Given the description of an element on the screen output the (x, y) to click on. 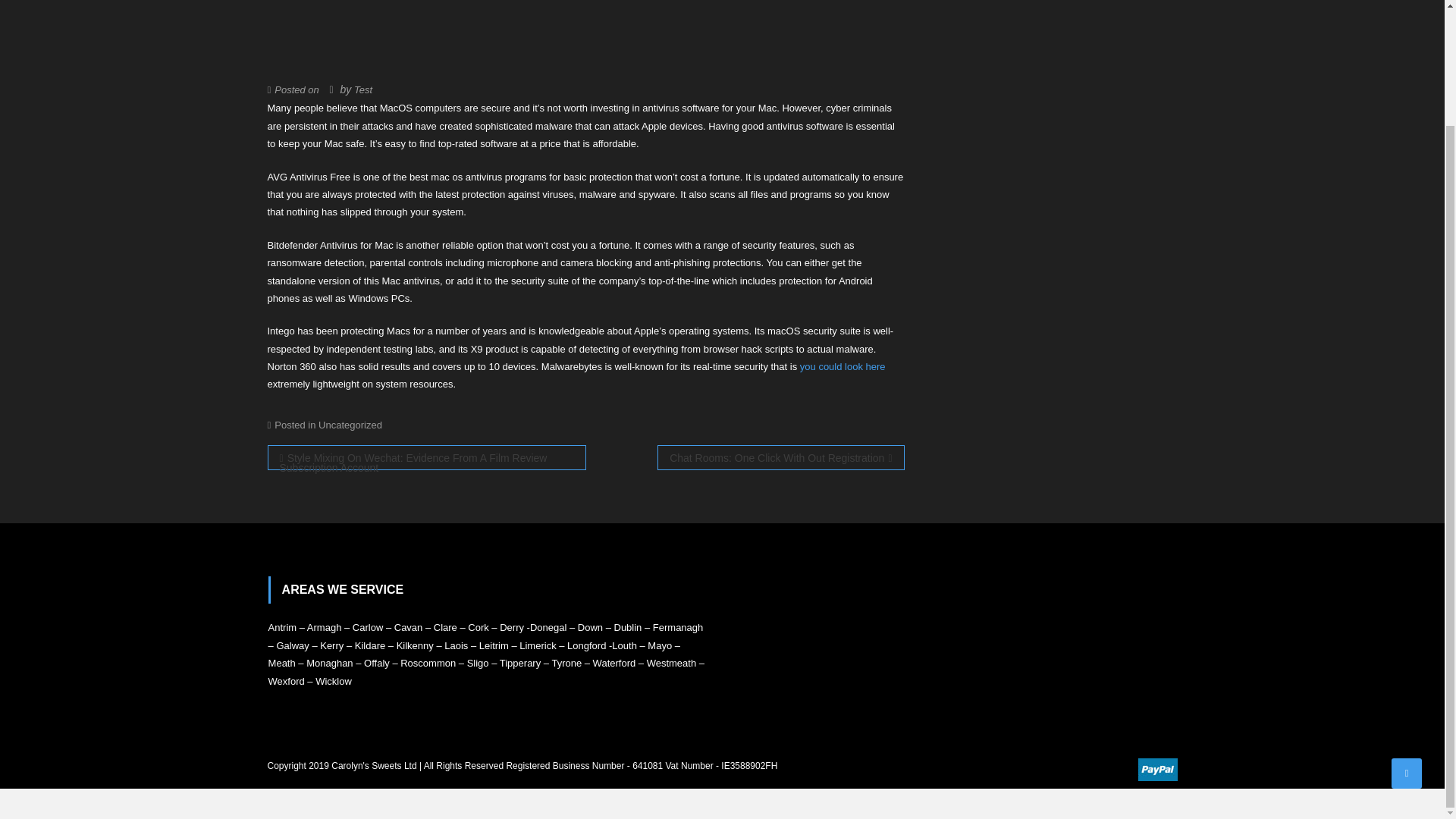
you could look here (842, 366)
Chat Rooms: One Click With Out Registration (781, 457)
Test (362, 89)
Uncategorized (349, 424)
